Given the description of an element on the screen output the (x, y) to click on. 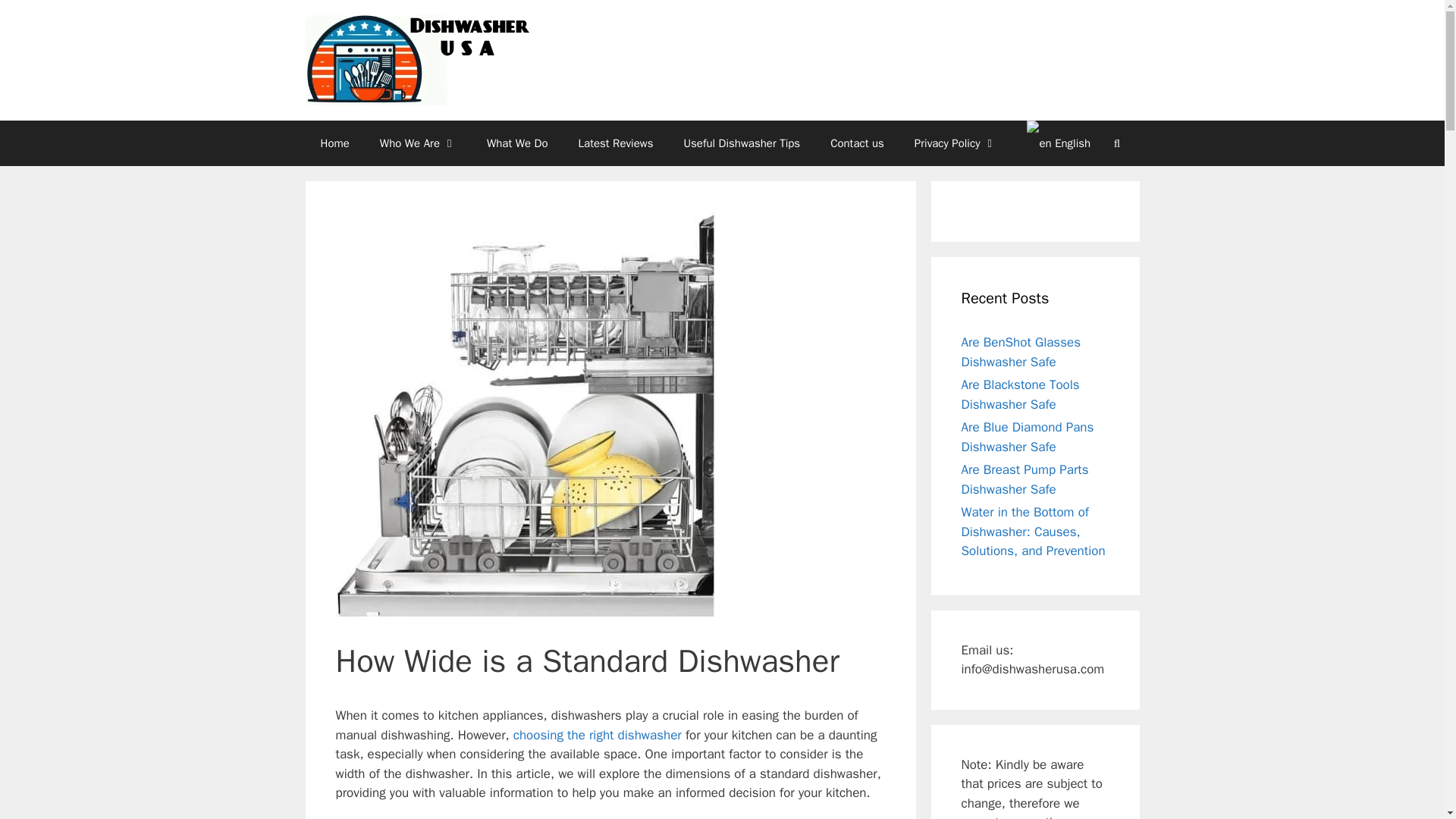
Who We Are (418, 143)
Useful Dishwasher Tips (741, 143)
choosing the right dishwasher (599, 734)
English (1050, 143)
Privacy Policy (955, 143)
Home (334, 143)
Contact us (857, 143)
What We Do (517, 143)
Latest Reviews (615, 143)
